Given the description of an element on the screen output the (x, y) to click on. 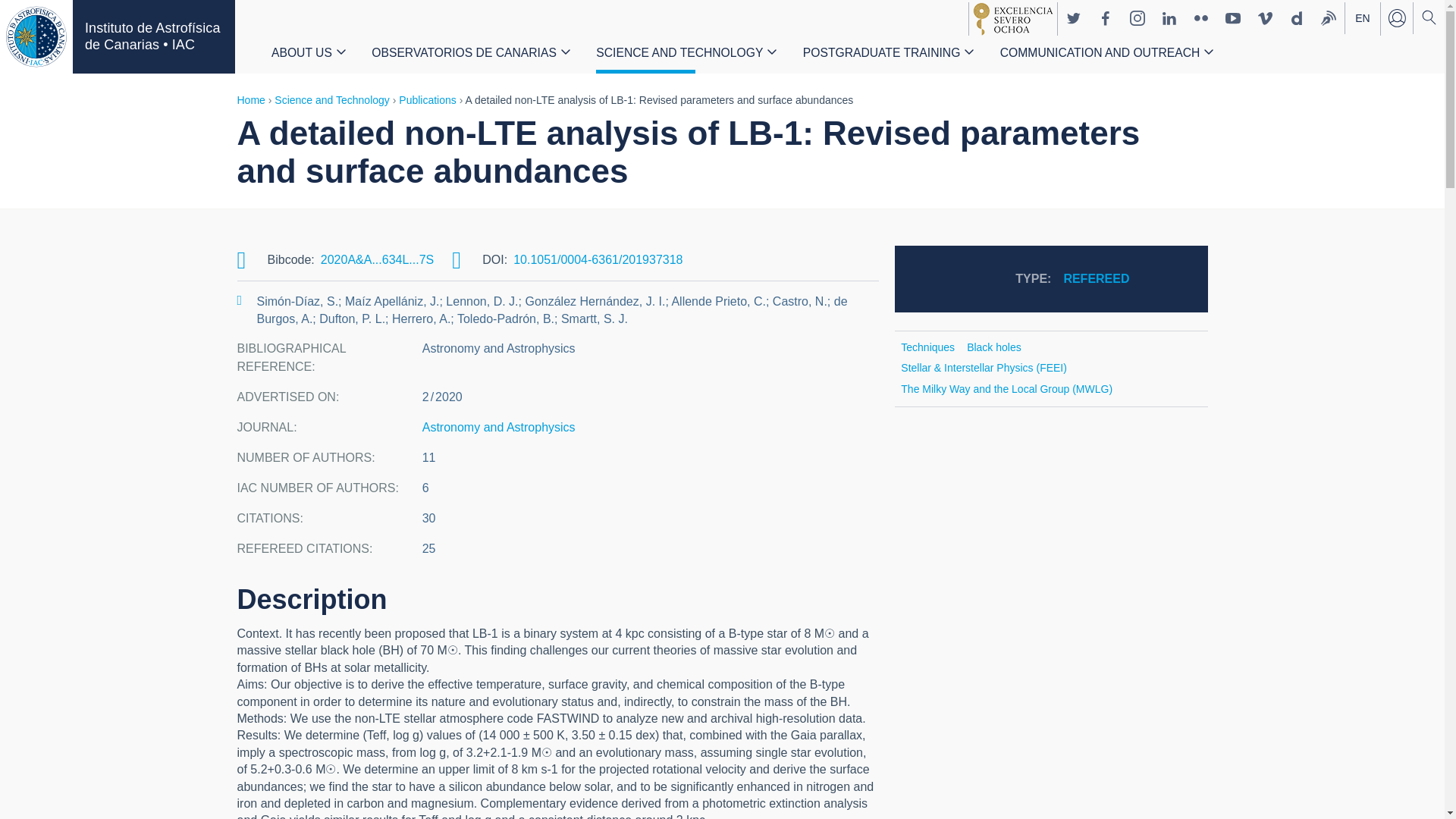
Log in (1396, 18)
EN (1362, 19)
OBSERVATORIOS DE CANARIAS (463, 55)
Home (36, 36)
Home (153, 36)
ABOUT US (300, 55)
severoochoa (1012, 19)
SCIENCE AND TECHNOLOGY (678, 55)
